Given the description of an element on the screen output the (x, y) to click on. 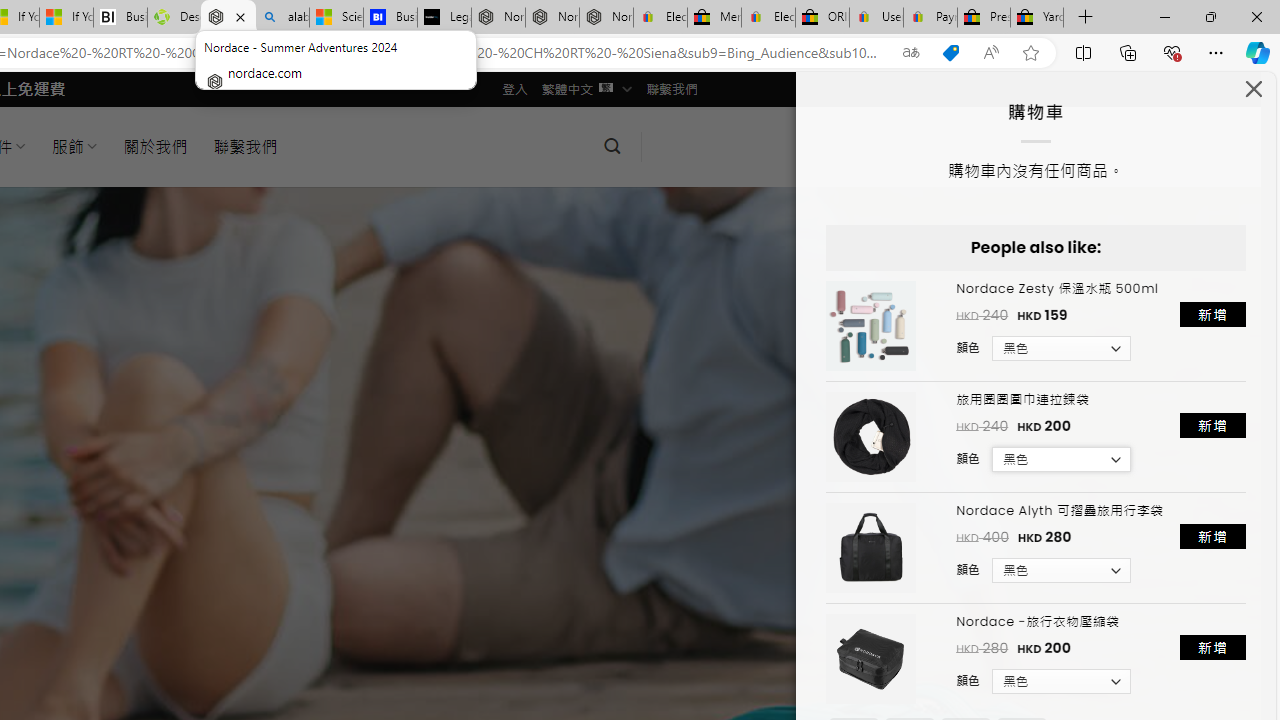
Class: feather feather-x (1254, 88)
Descarga Driver Updater (174, 17)
Yard, Garden & Outdoor Living (1037, 17)
